Given the description of an element on the screen output the (x, y) to click on. 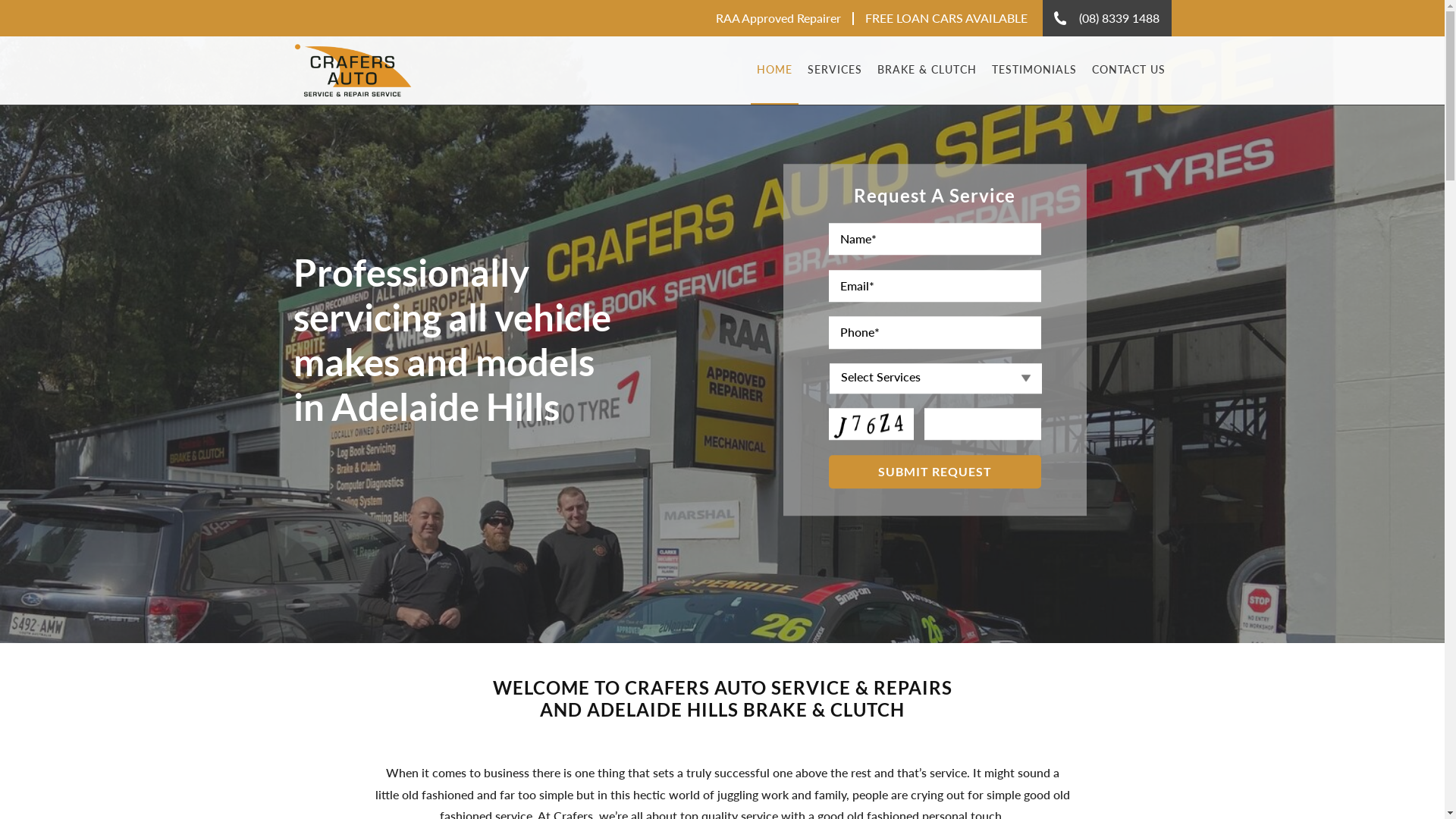
HOME Element type: text (774, 70)
(08) 8339 1488 Element type: text (1106, 18)
CONTACT US Element type: text (1128, 70)
CRAFERS AUTO Element type: text (365, 70)
TESTIMONIALS Element type: text (1033, 70)
Submit request Element type: text (934, 471)
Skip to content Element type: text (0, 0)
SERVICES Element type: text (834, 70)
BRAKE & CLUTCH Element type: text (926, 70)
